Given the description of an element on the screen output the (x, y) to click on. 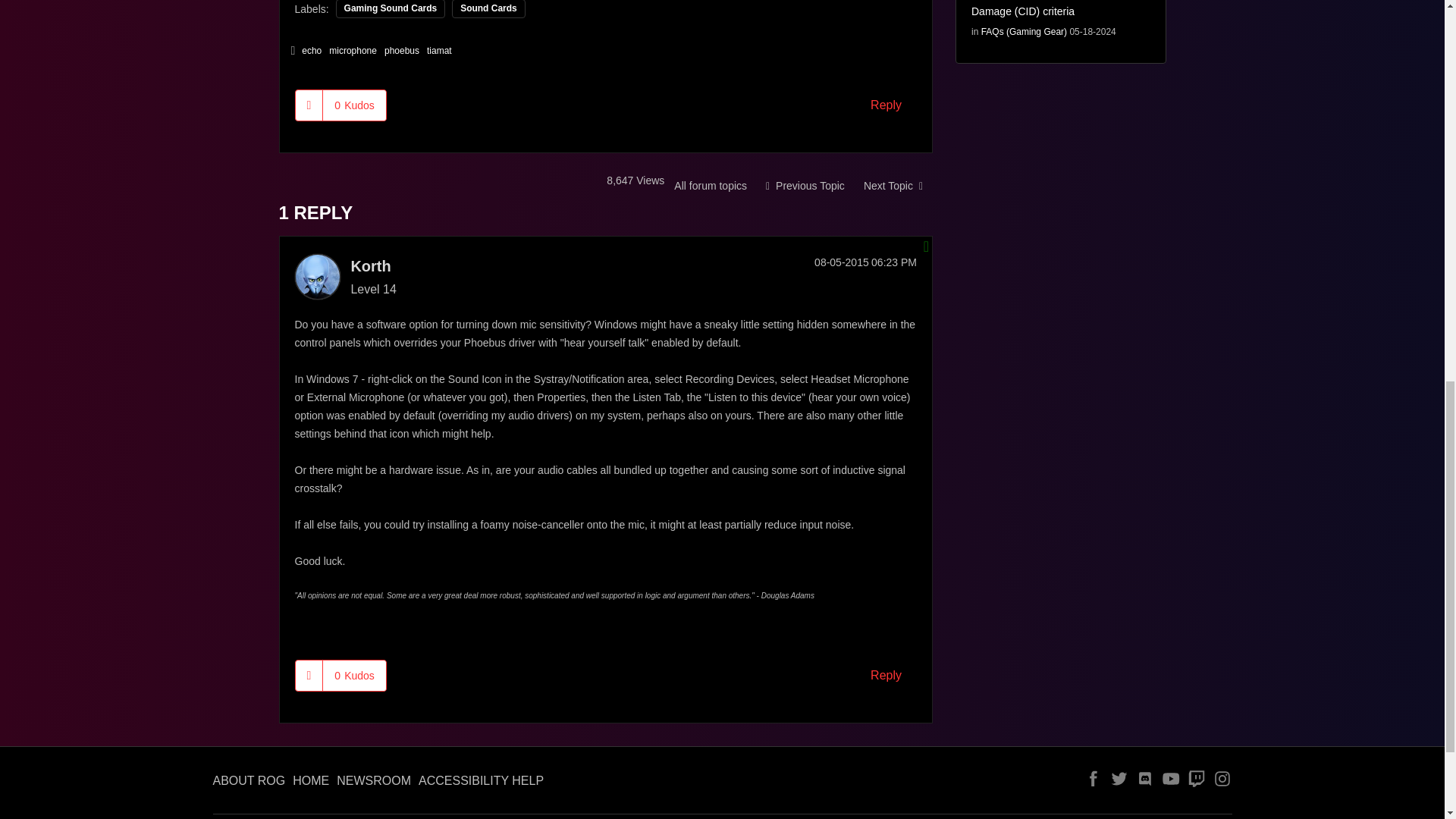
Korth (316, 276)
Gaming Sound Cards (710, 185)
Click here to give kudos to this post. (309, 675)
Click here to give kudos to this post. (309, 105)
1.08 drivers missing microphone noise cancellation? (893, 185)
The total number of kudos this post has received. (354, 105)
The total number of kudos this post has received. (354, 675)
